Given the description of an element on the screen output the (x, y) to click on. 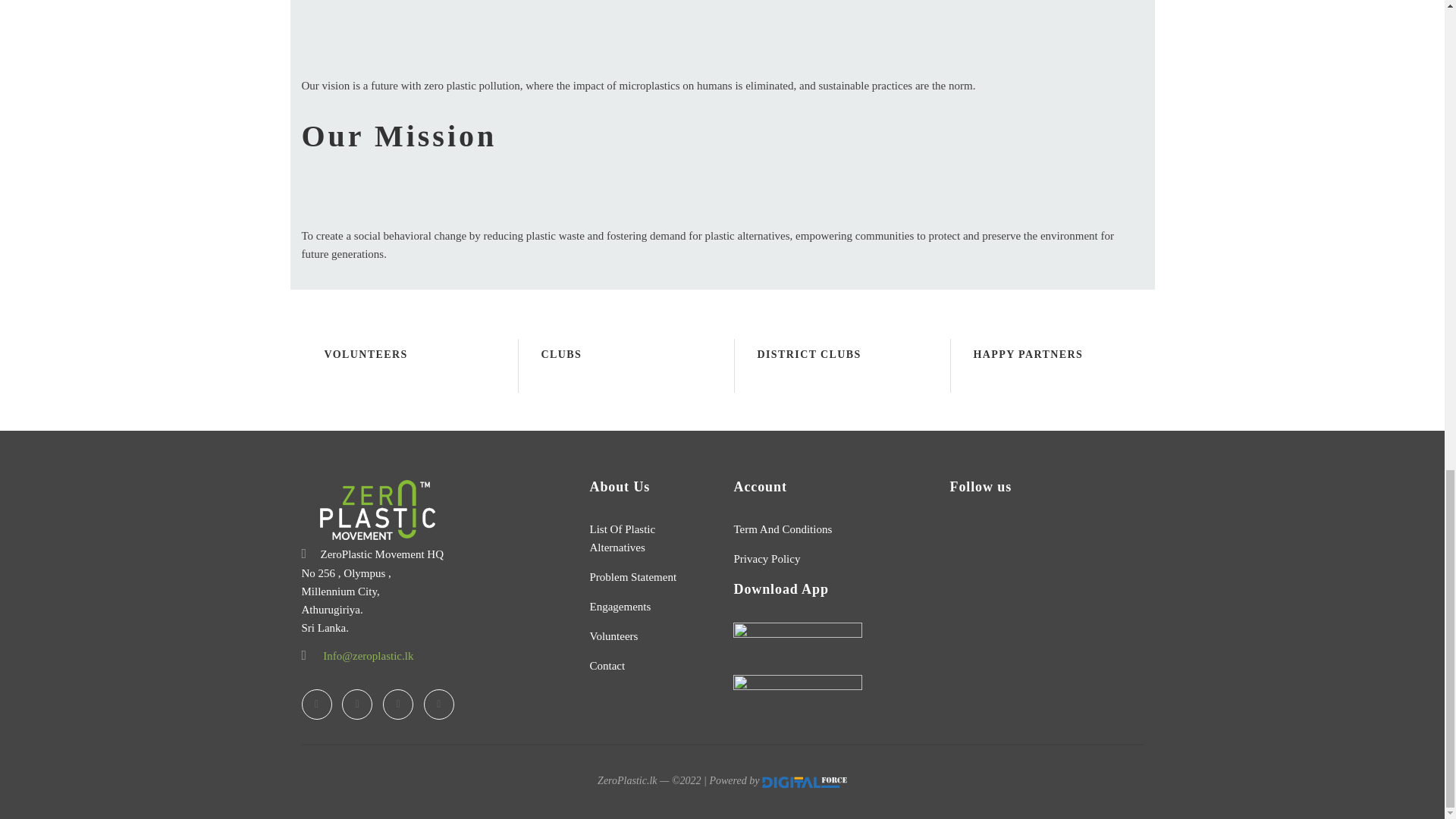
Term And Conditions (782, 528)
Engagements (619, 605)
Contact (606, 664)
Volunteers (613, 635)
List Of Plastic Alternatives (622, 537)
Problem Statement (633, 576)
